Given the description of an element on the screen output the (x, y) to click on. 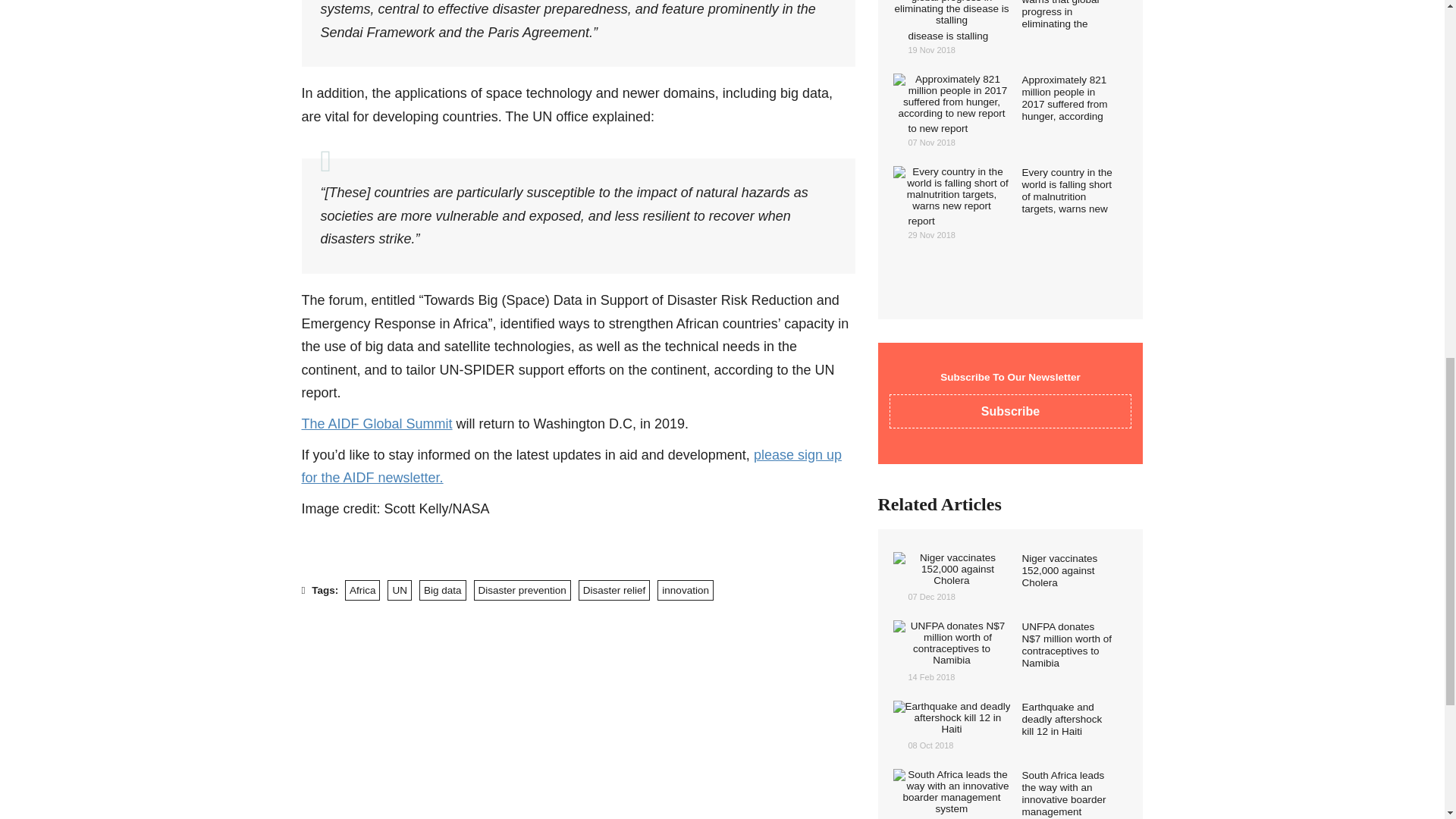
Big data (442, 589)
UN (399, 589)
Africa (362, 589)
